Given the description of an element on the screen output the (x, y) to click on. 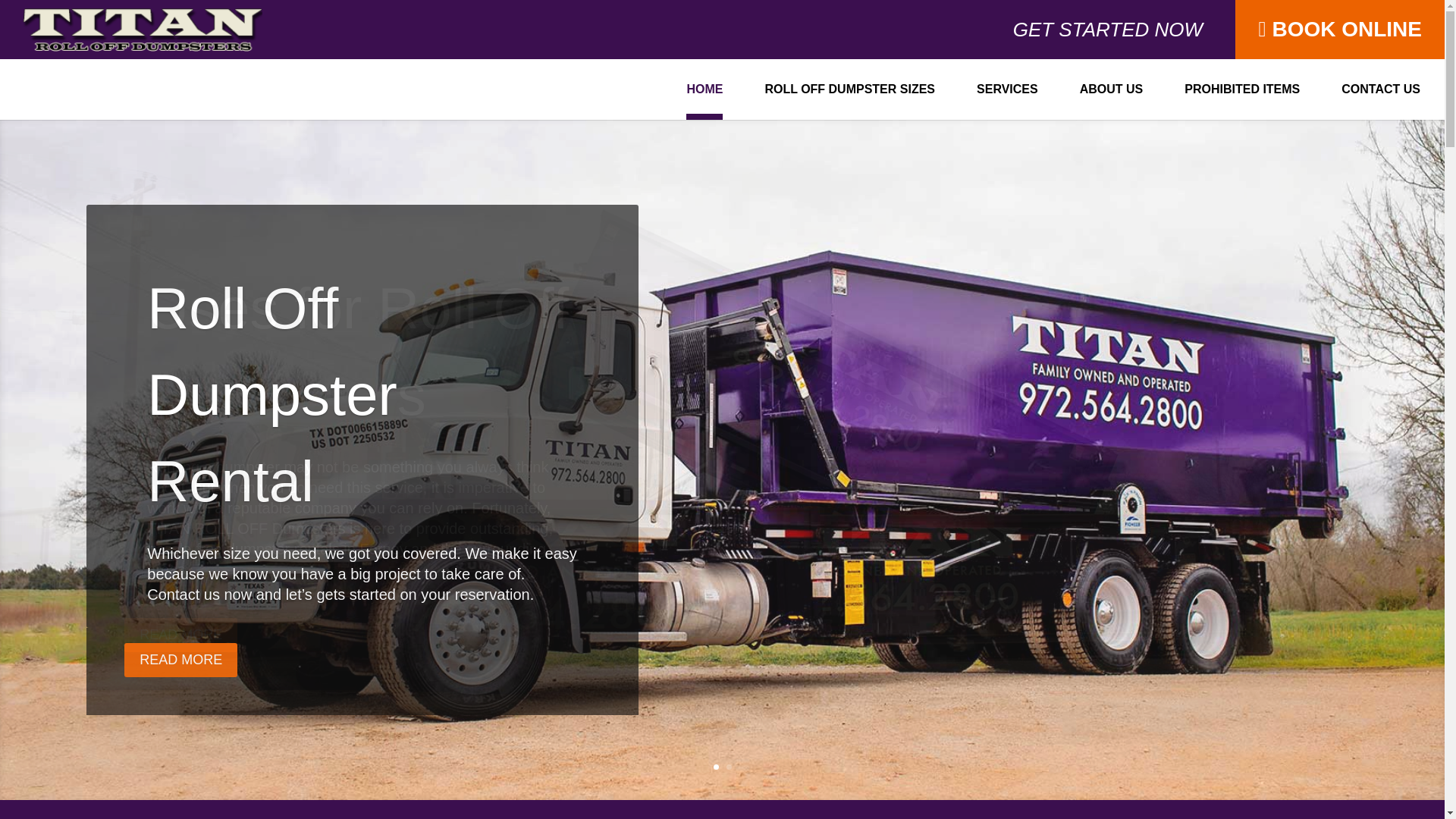
GET STARTED NOW (1107, 37)
Roll Off Dumpster Rental (271, 417)
READ MORE (180, 677)
ROLL OFF DUMPSTER SIZES (849, 101)
HOME (703, 101)
Uses for Roll Off Dumpsters (358, 351)
CONTACT US (1380, 101)
ABOUT US (1111, 101)
PROHIBITED ITEMS (1242, 101)
SERVICES (1007, 101)
